Given the description of an element on the screen output the (x, y) to click on. 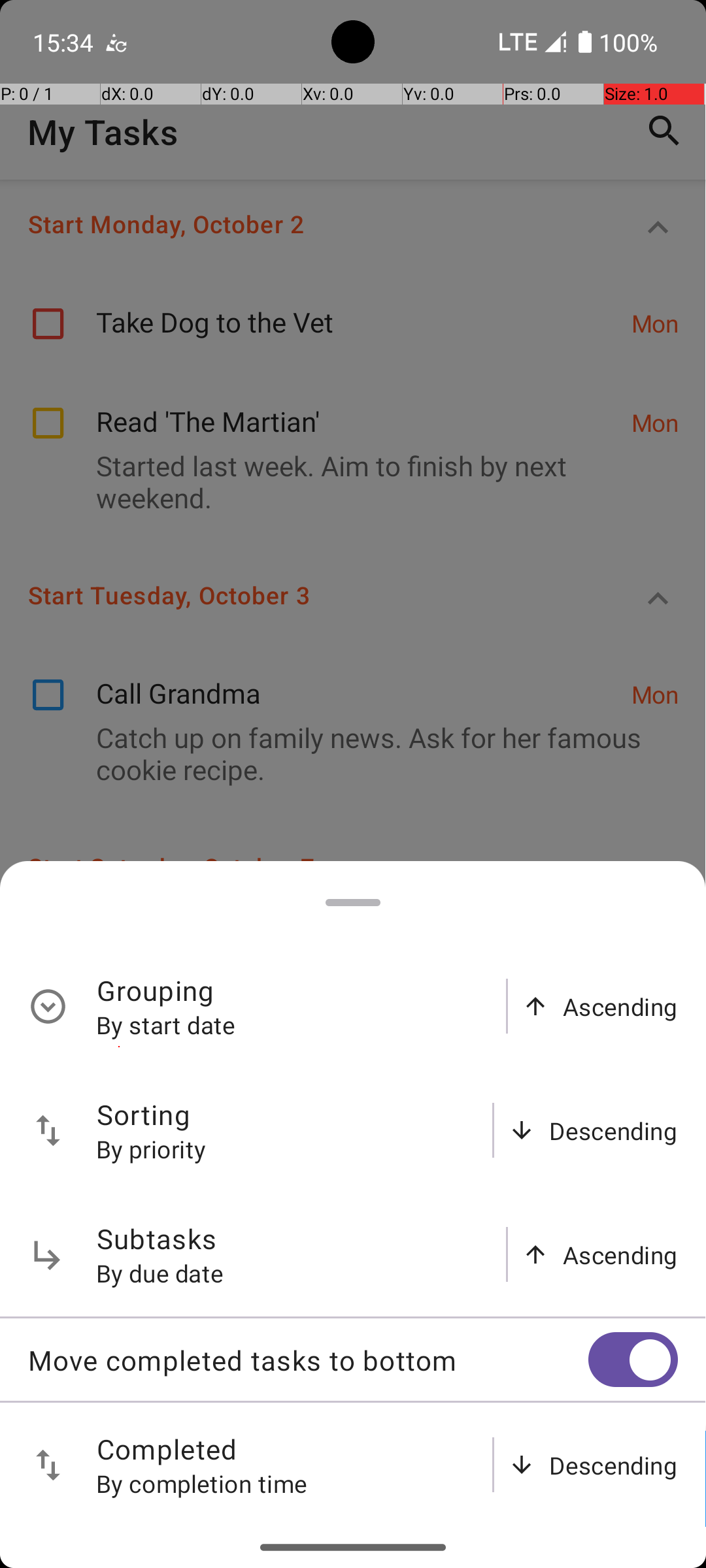
Drag handle Element type: android.view.View (352, 902)
Grouping Element type: android.widget.TextView (155, 989)
By start date Element type: android.widget.TextView (165, 1024)
Sorting Element type: android.widget.TextView (143, 1113)
By priority Element type: android.widget.TextView (151, 1148)
Subtasks Element type: android.widget.TextView (156, 1238)
By due date Element type: android.widget.TextView (160, 1273)
Move completed tasks to bottom Element type: android.widget.TextView (307, 1359)
Completed Element type: android.widget.TextView (166, 1448)
By completion time Element type: android.widget.TextView (201, 1483)
Ascending Element type: android.widget.TextView (619, 1006)
Descending Element type: android.widget.TextView (613, 1130)
